Given the description of an element on the screen output the (x, y) to click on. 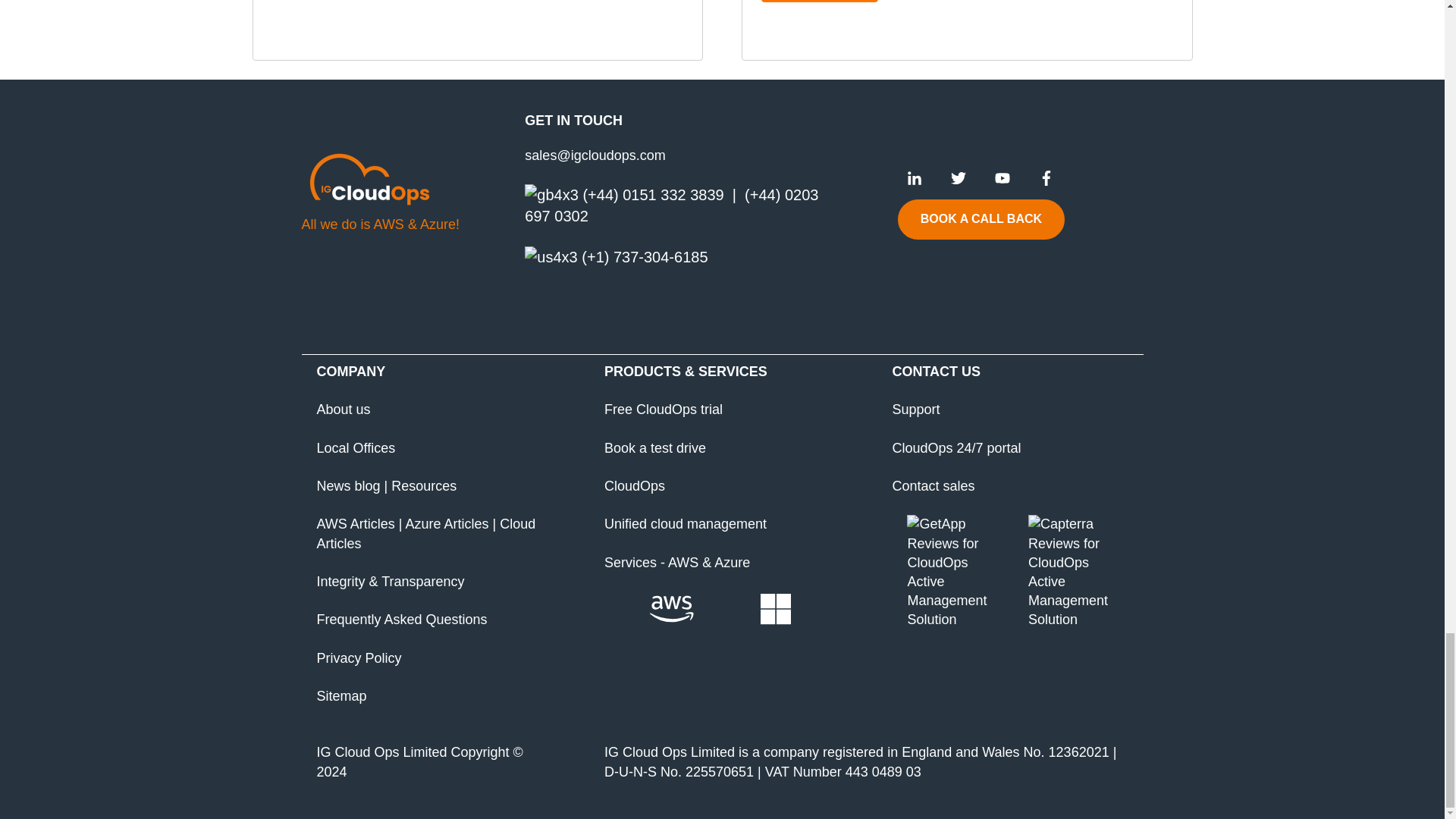
IG CloudOps logo (369, 177)
